Given the description of an element on the screen output the (x, y) to click on. 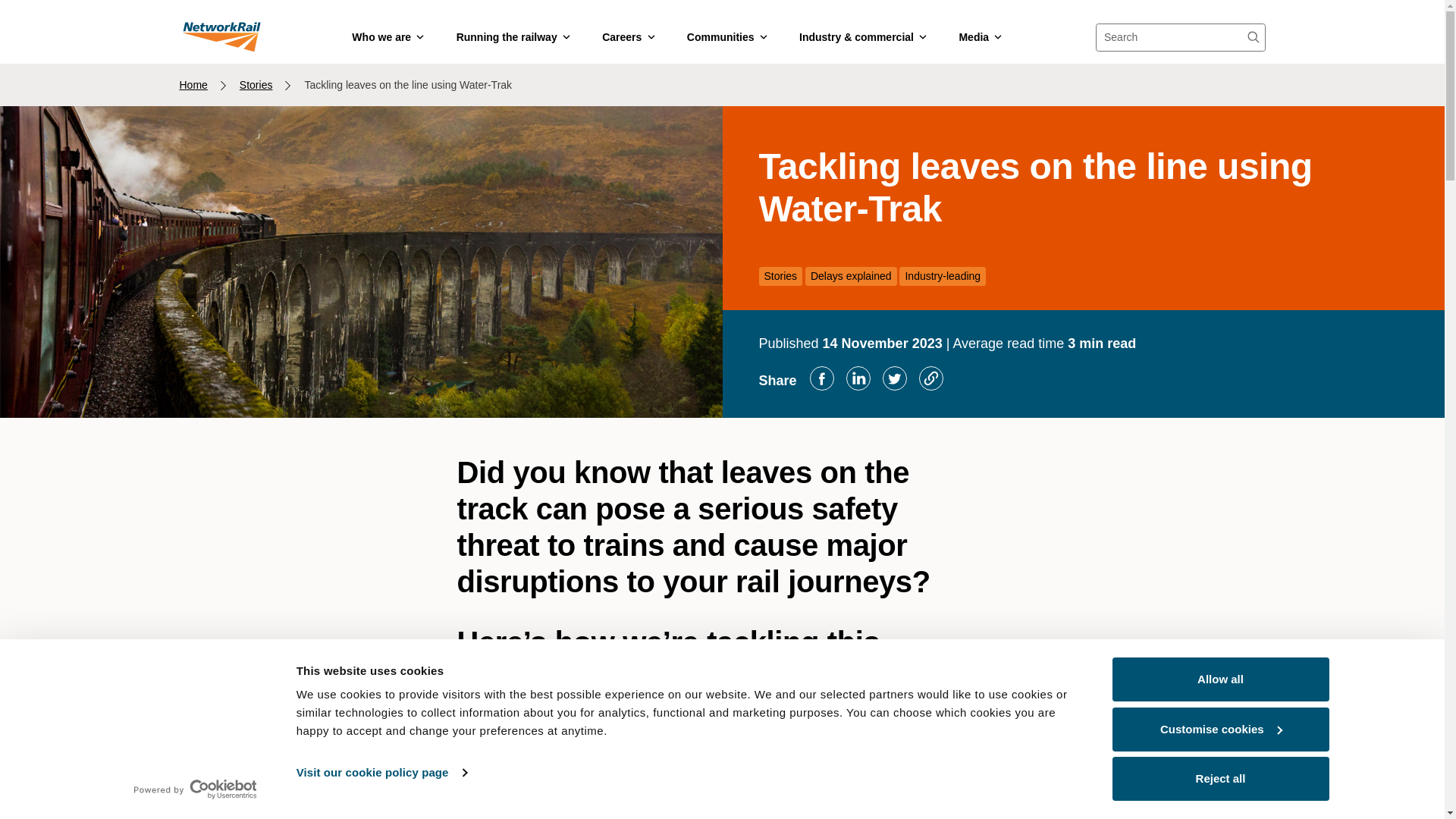
Reject all (1219, 778)
Visit our cookie policy page (381, 772)
